Given the description of an element on the screen output the (x, y) to click on. 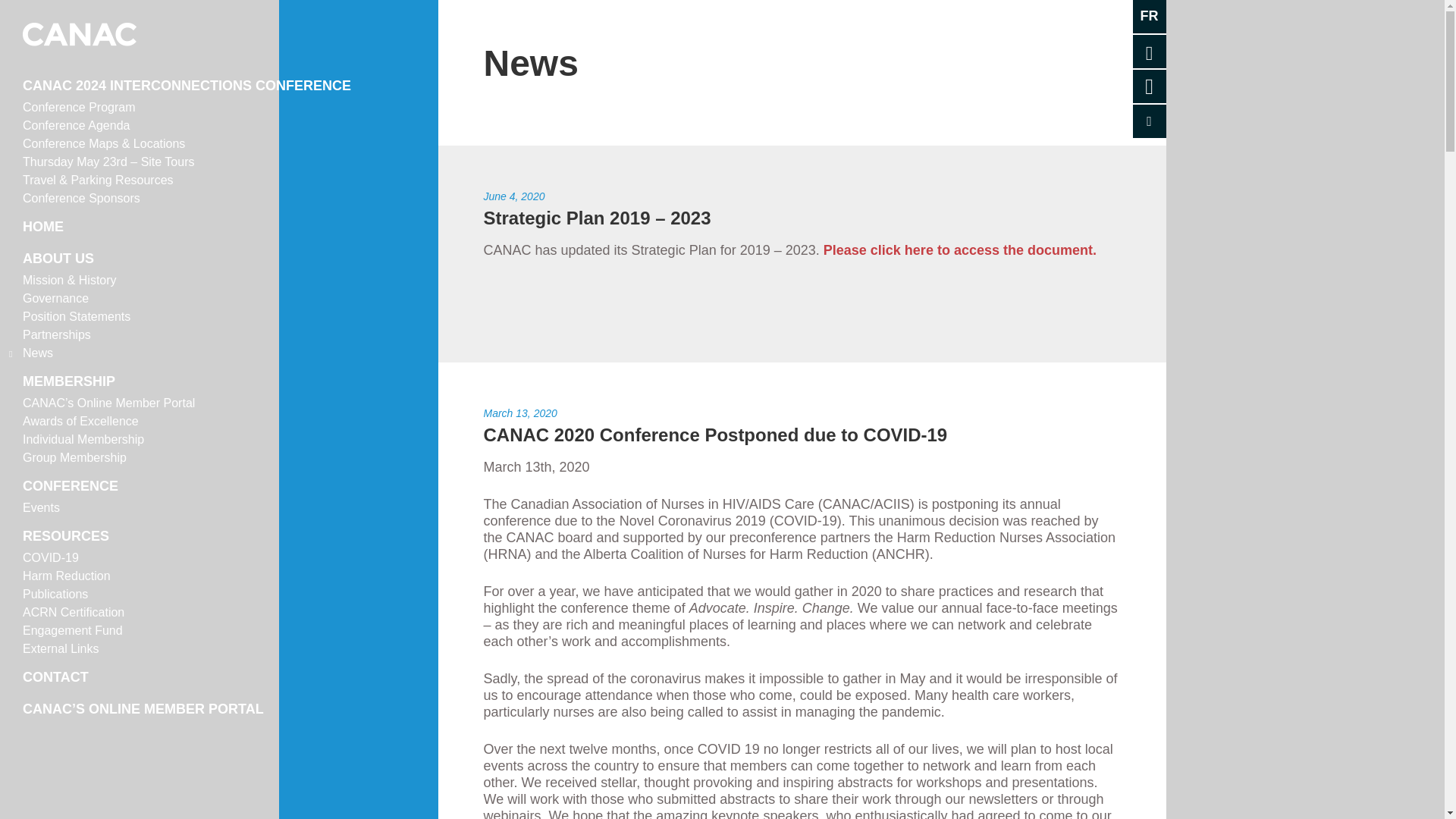
CANAC (79, 29)
FR (1149, 16)
Please click here to access the document.  (962, 249)
